Given the description of an element on the screen output the (x, y) to click on. 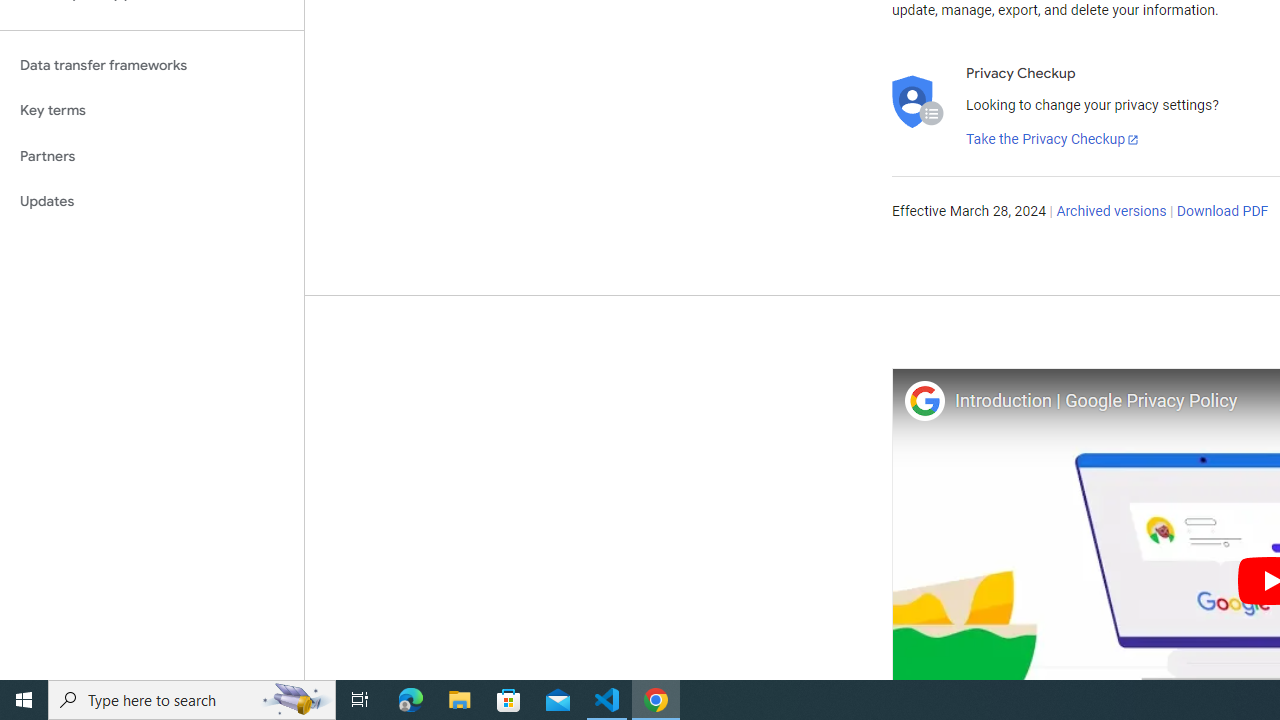
Photo image of Google (924, 400)
Archived versions (1111, 212)
Partners (152, 156)
Download PDF (1222, 212)
Updates (152, 201)
Data transfer frameworks (152, 65)
Key terms (152, 110)
Take the Privacy Checkup (1053, 140)
